Given the description of an element on the screen output the (x, y) to click on. 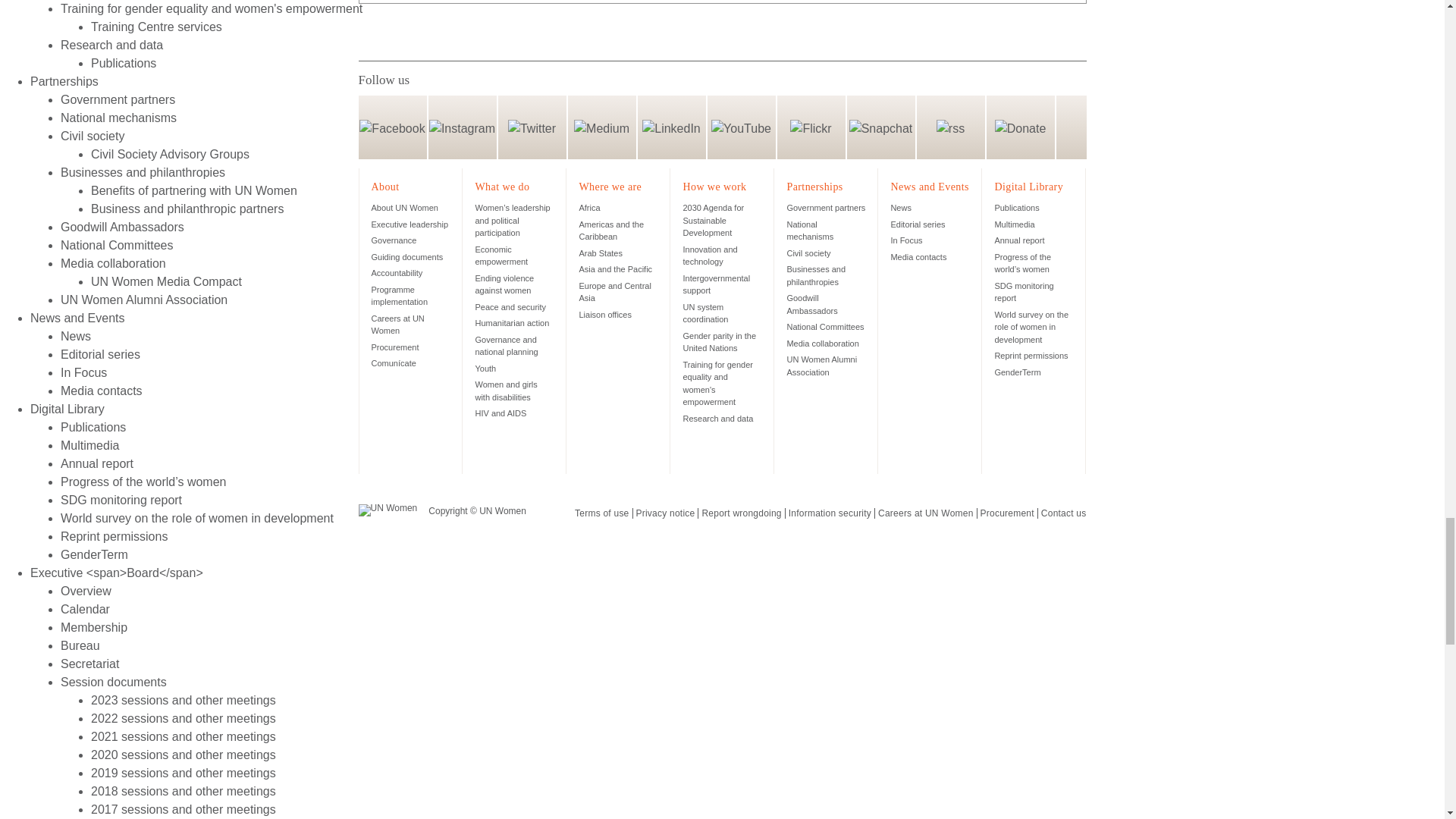
World survey on the role of women in development (1031, 326)
Donate (1019, 127)
Arab States (599, 252)
UN Women (387, 510)
